Given the description of an element on the screen output the (x, y) to click on. 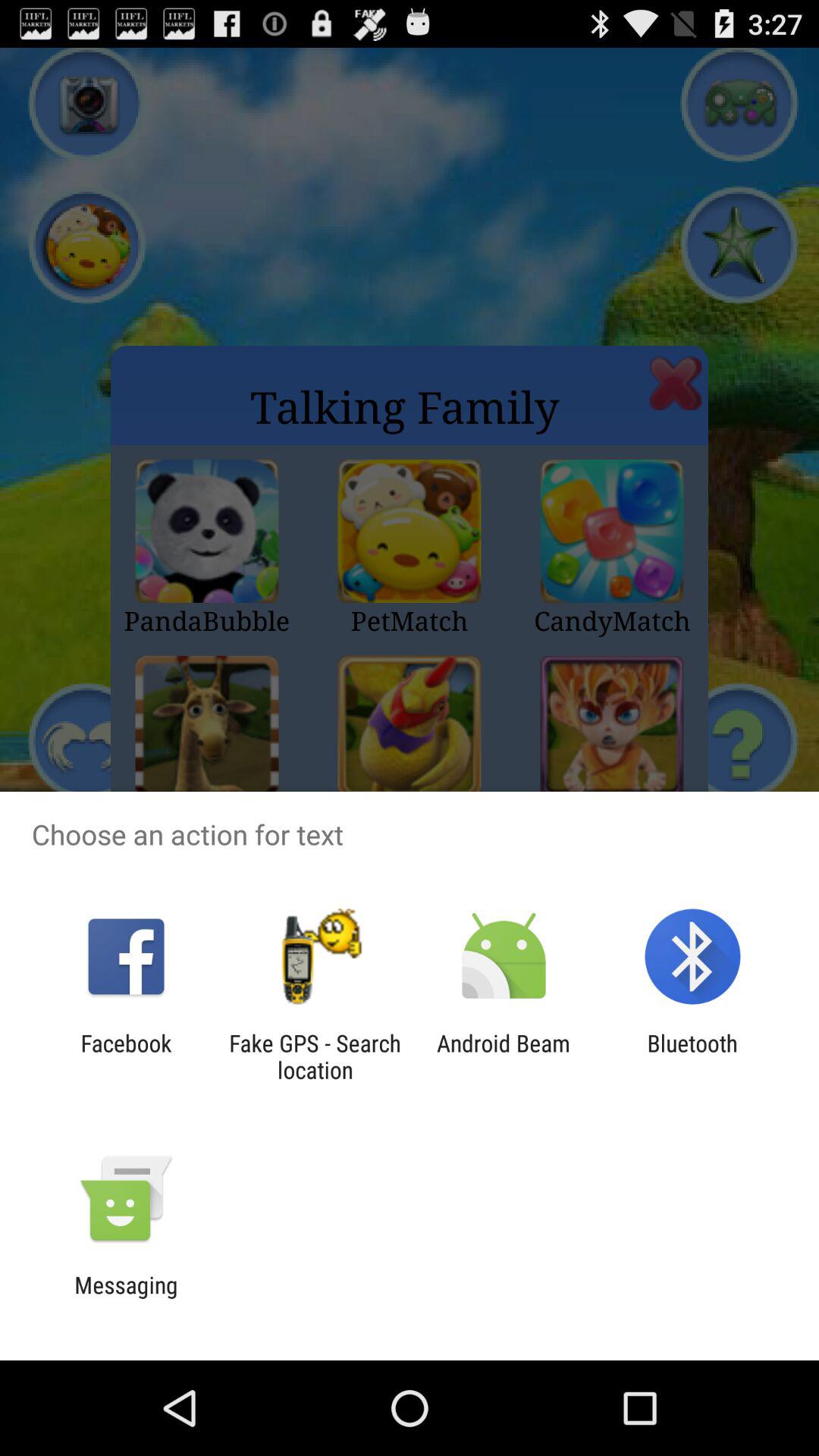
open the icon to the right of the facebook (314, 1056)
